Given the description of an element on the screen output the (x, y) to click on. 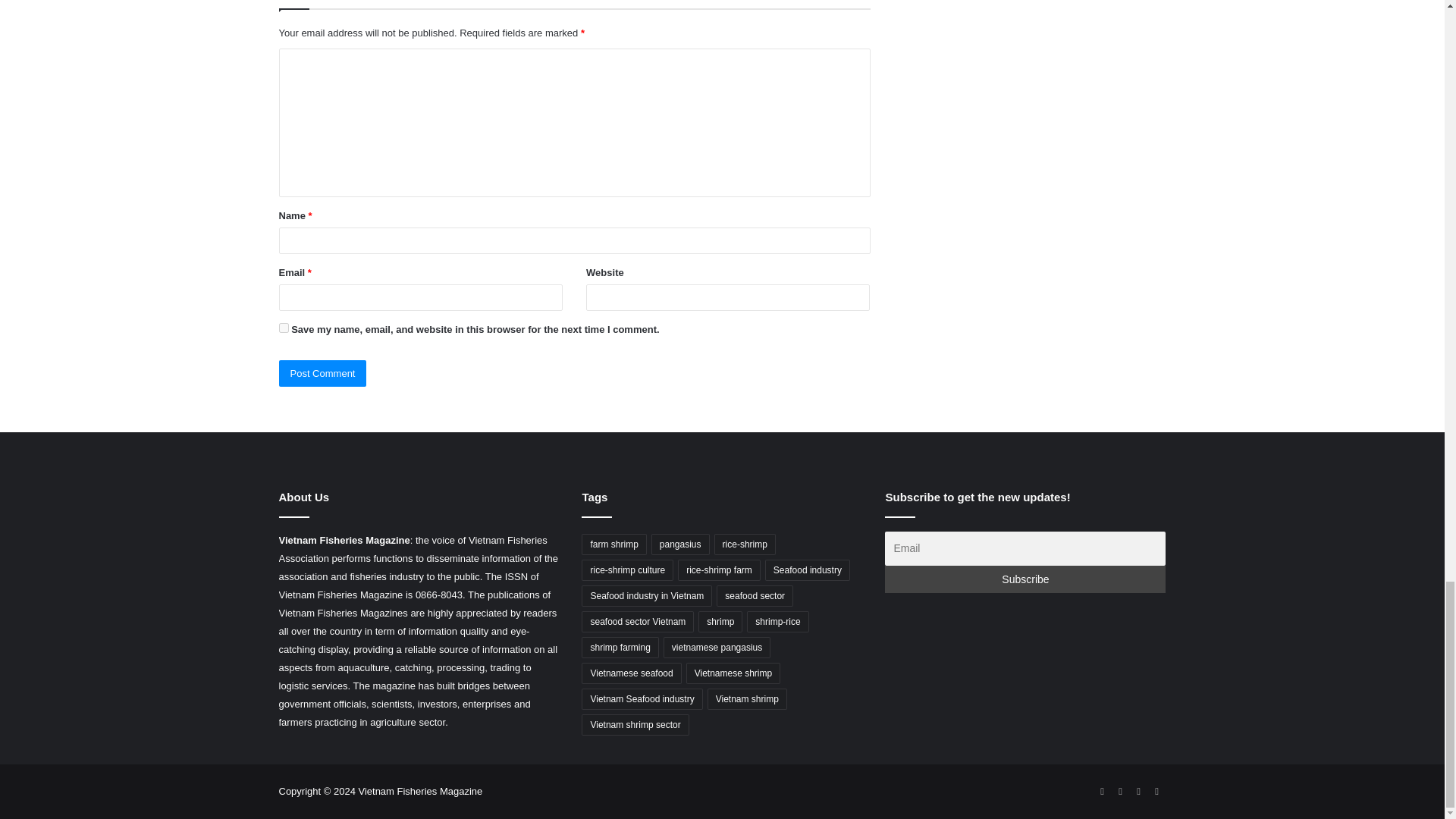
yes (283, 327)
Subscribe (1025, 578)
Post Comment (322, 373)
